Given the description of an element on the screen output the (x, y) to click on. 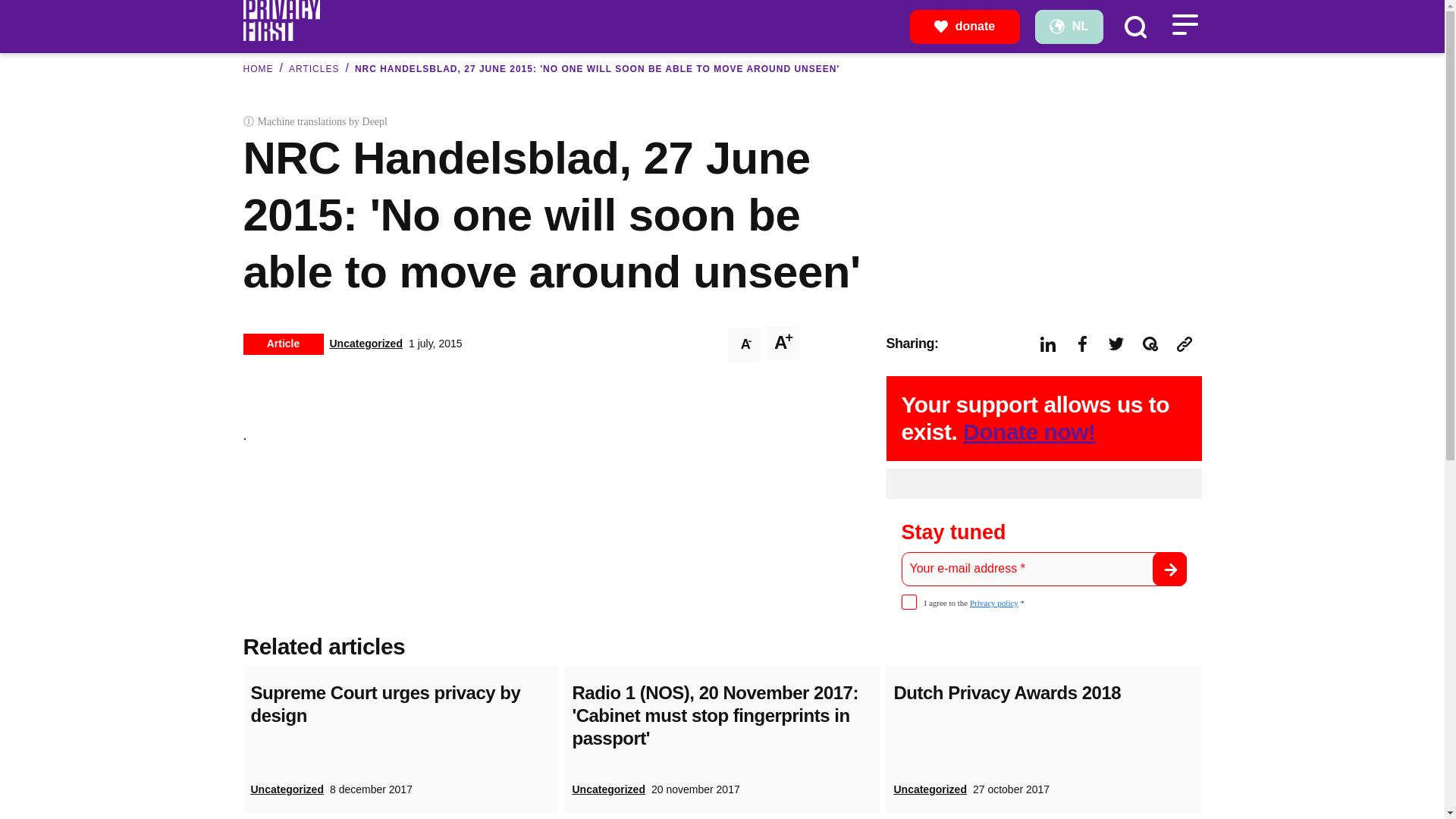
HOME (258, 68)
on (909, 601)
Privacy First (280, 19)
Donate (965, 26)
Search (1134, 26)
Donate now! (1029, 431)
Dutch (1067, 26)
A- (744, 344)
ARTICLES (313, 68)
donate (965, 26)
Open menu (1184, 24)
Uncategorized (365, 343)
